Given the description of an element on the screen output the (x, y) to click on. 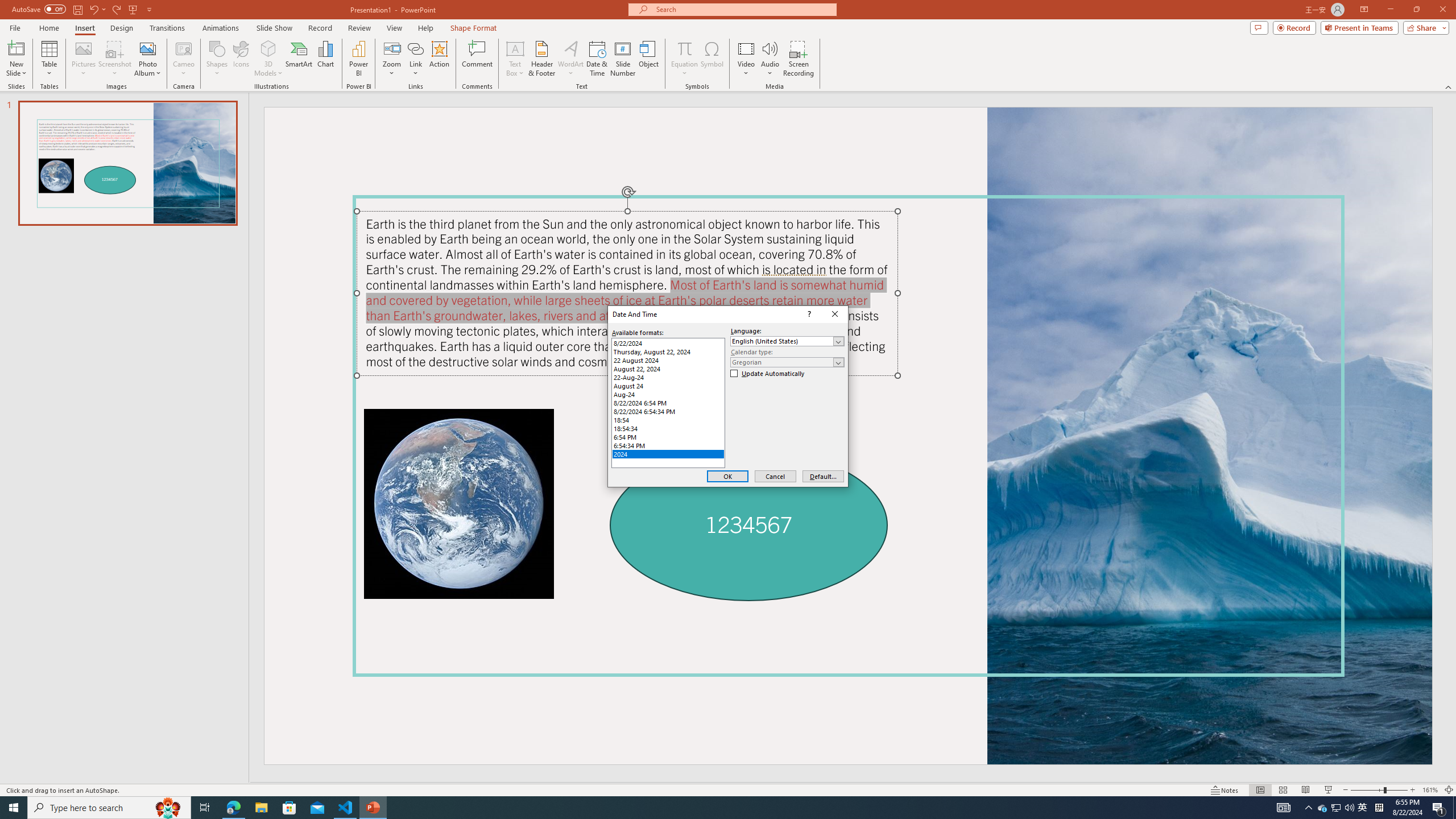
Save (77, 9)
6:54:34 PM (667, 445)
SmartArt... (298, 58)
Language (787, 340)
Thursday, August 22, 2024 (667, 351)
Pictures (83, 58)
Icons (240, 58)
Present in Teams (1359, 27)
Comments (1259, 27)
Class: MsoCommandBar (1322, 807)
22-Aug-24 (728, 789)
8/22/2024 6:54 PM (667, 377)
Animations (667, 402)
Zoom (220, 28)
